Given the description of an element on the screen output the (x, y) to click on. 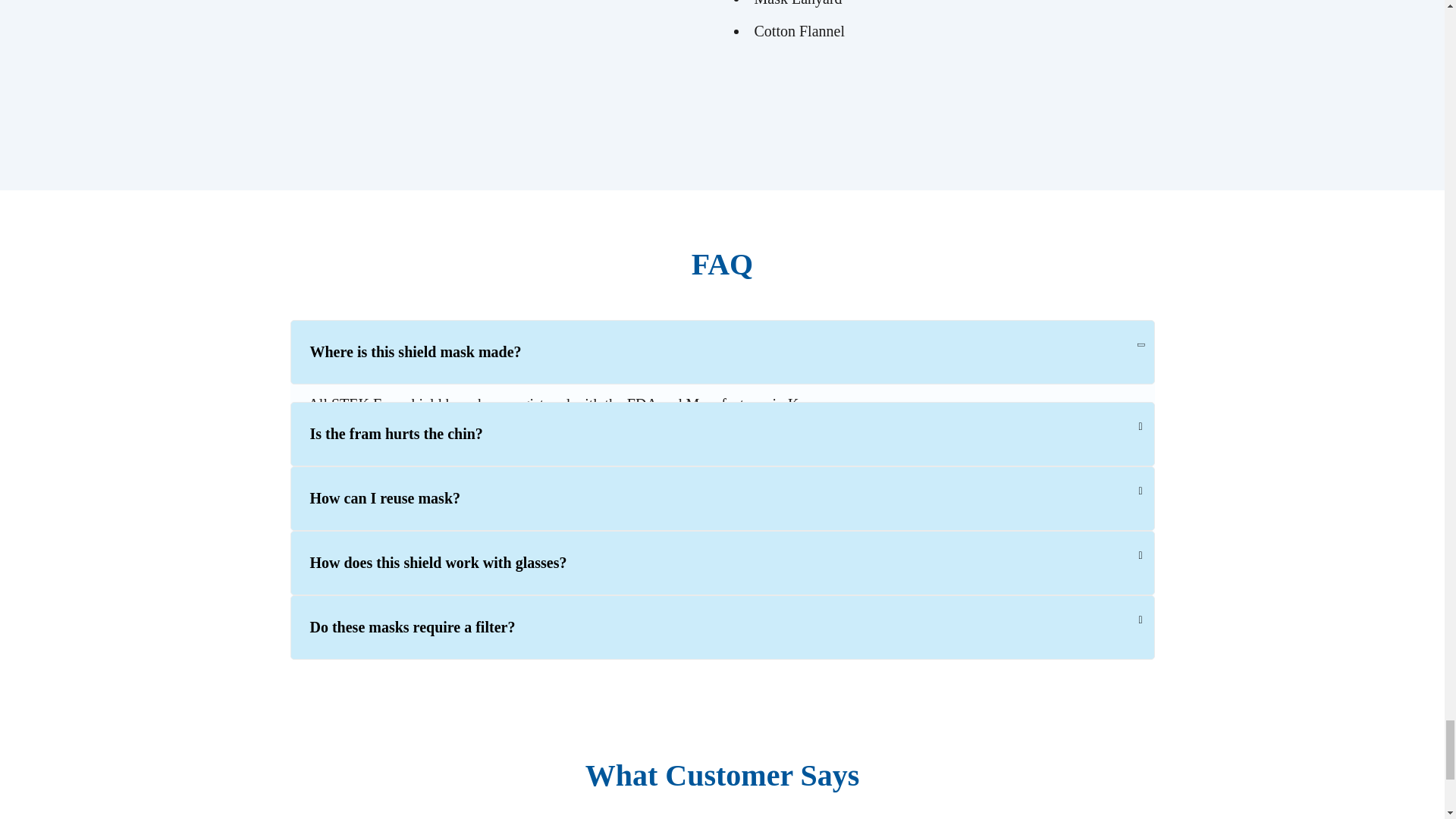
Is the fram hurts the chin? (721, 434)
Where is this shield mask made? (721, 352)
